Given the description of an element on the screen output the (x, y) to click on. 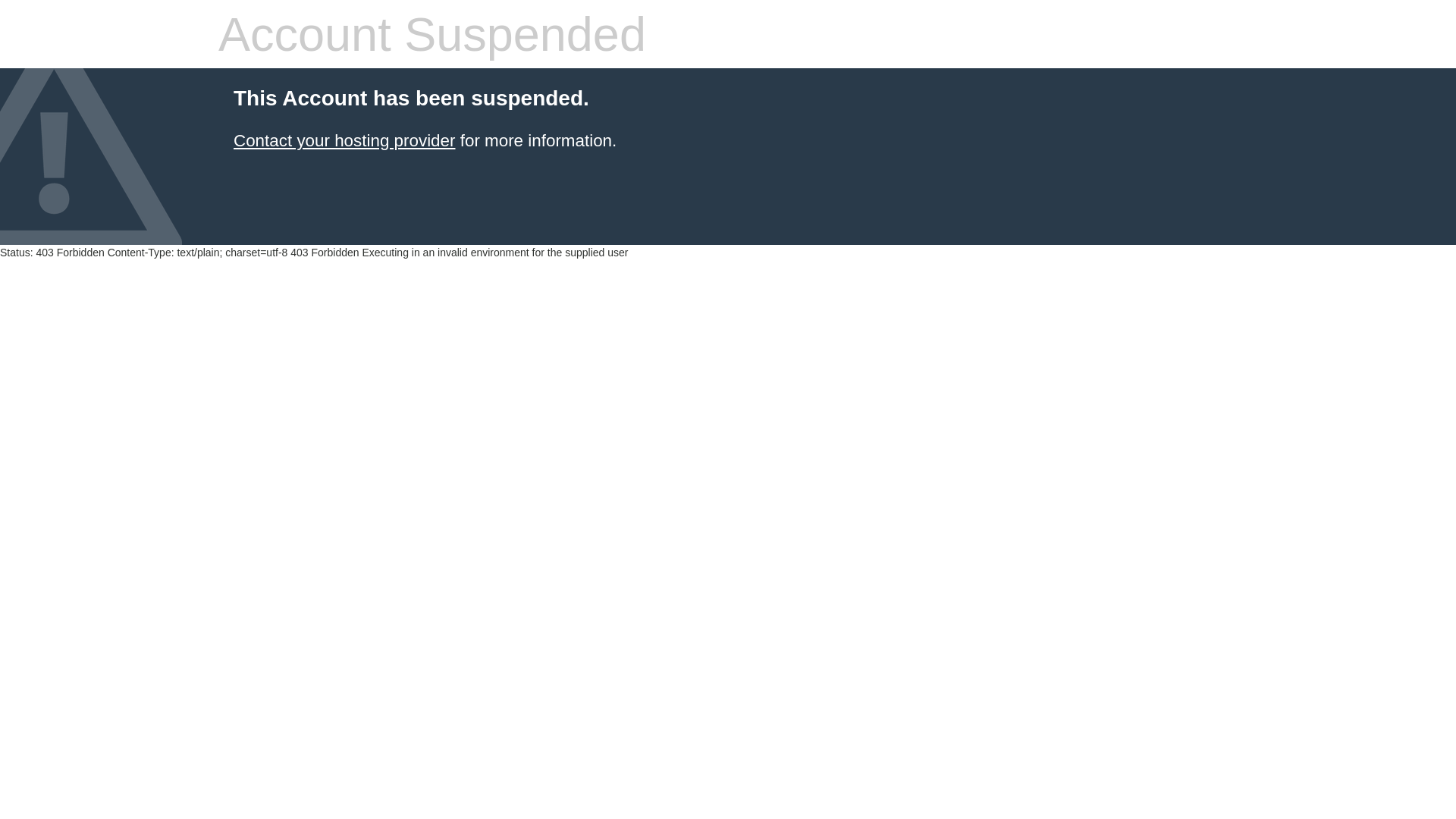
Contact your hosting provider Element type: text (344, 140)
